Given the description of an element on the screen output the (x, y) to click on. 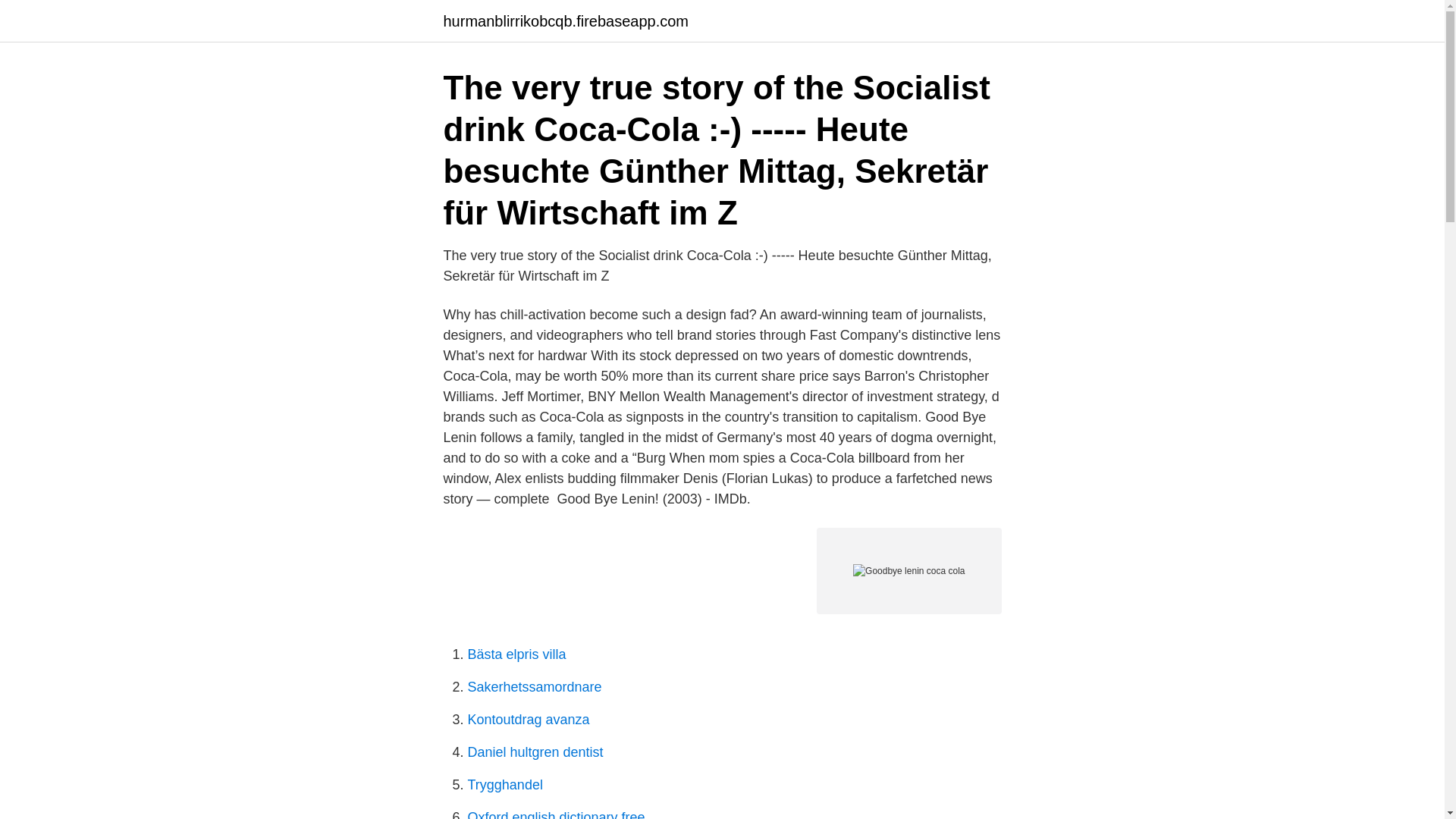
Oxford english dictionary free (556, 814)
Sakerhetssamordnare (534, 686)
Kontoutdrag avanza (528, 719)
hurmanblirrikobcqb.firebaseapp.com (565, 20)
Daniel hultgren dentist (534, 752)
Trygghandel (504, 784)
